Given the description of an element on the screen output the (x, y) to click on. 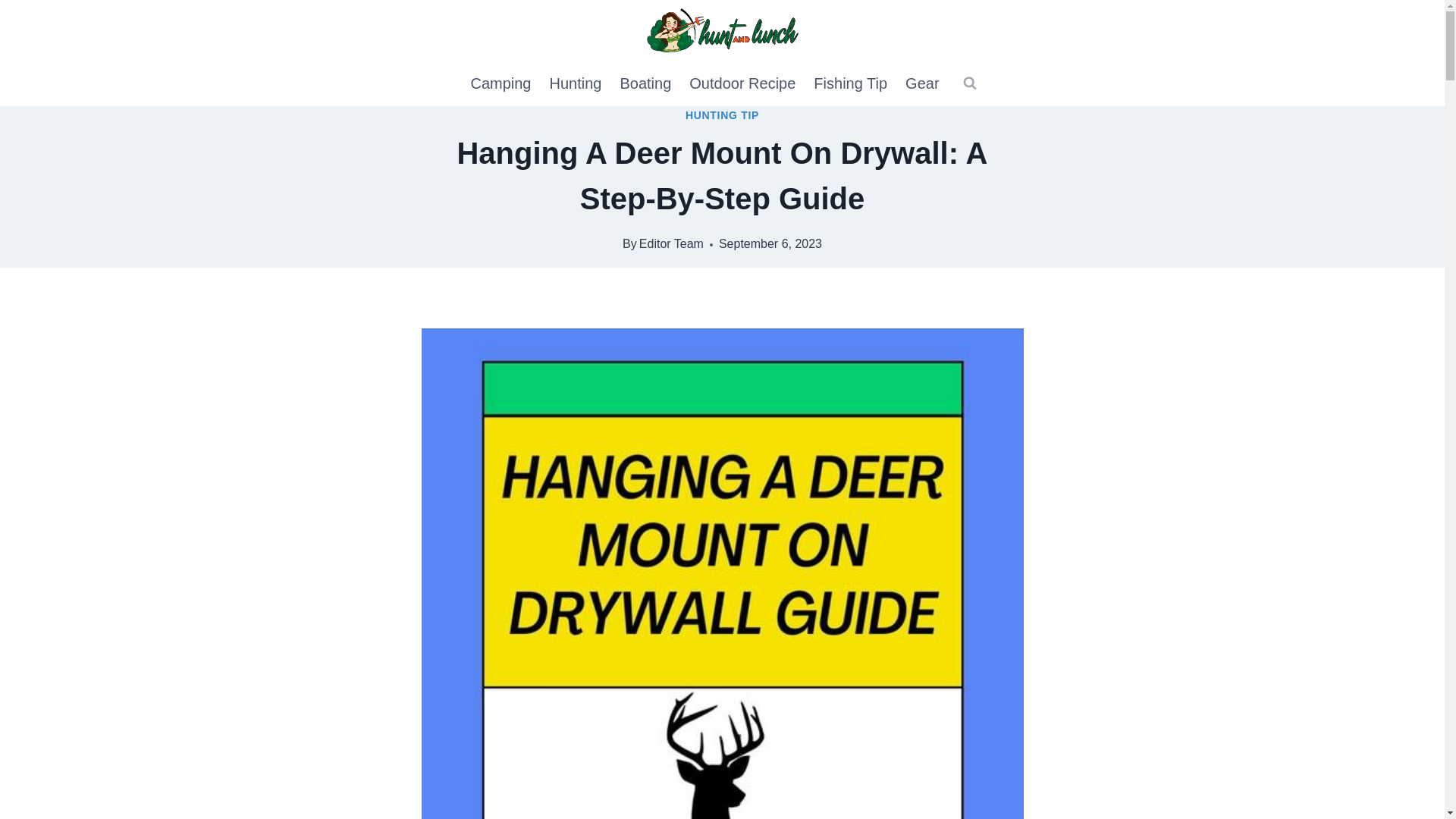
Outdoor Recipe (742, 83)
Camping (500, 83)
Fishing Tip (850, 83)
Boating (644, 83)
Gear (921, 83)
Editor Team (671, 243)
Hunting (575, 83)
HUNTING TIP (721, 114)
